Given the description of an element on the screen output the (x, y) to click on. 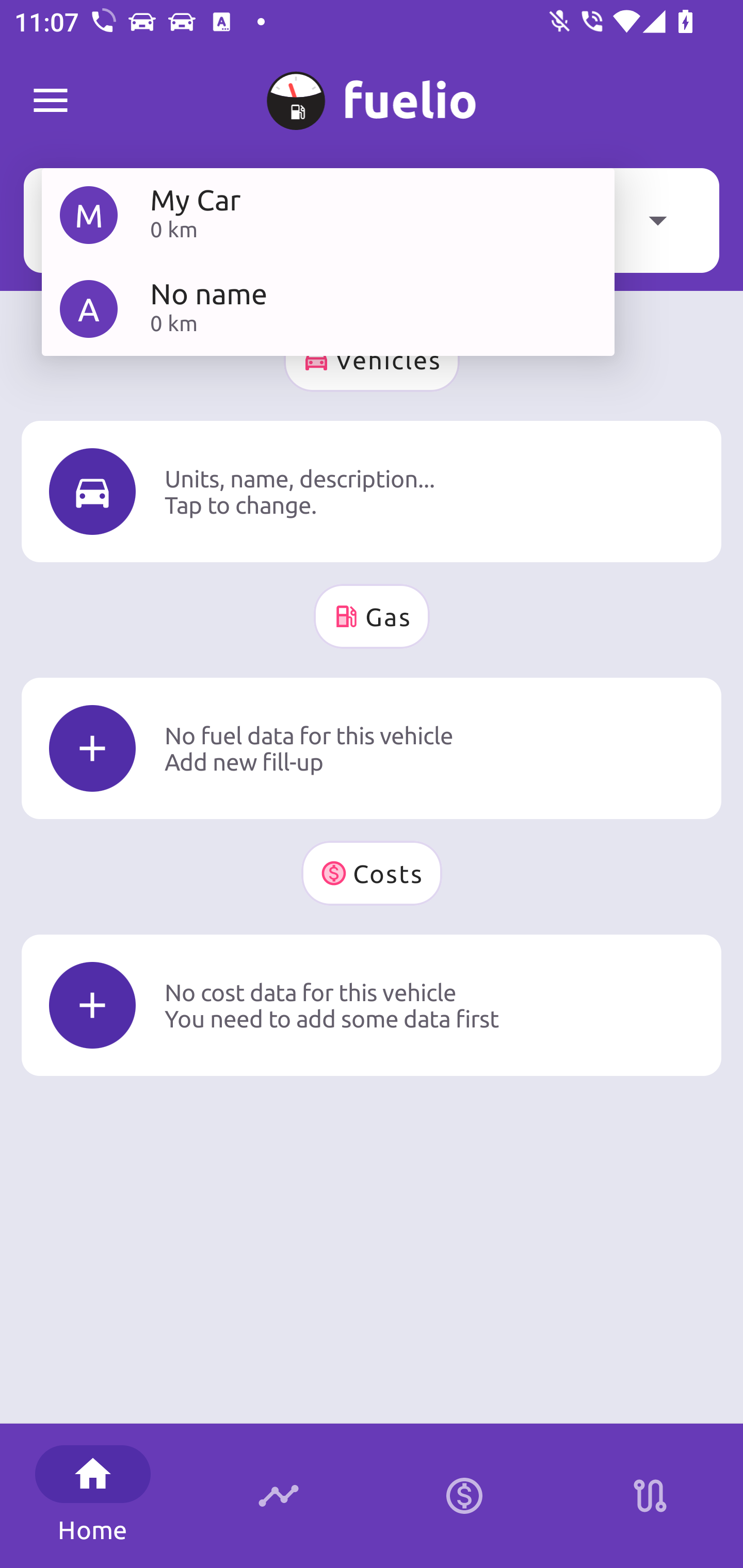
M My Car 0 km (327, 214)
A No name 0 km (327, 308)
